Given the description of an element on the screen output the (x, y) to click on. 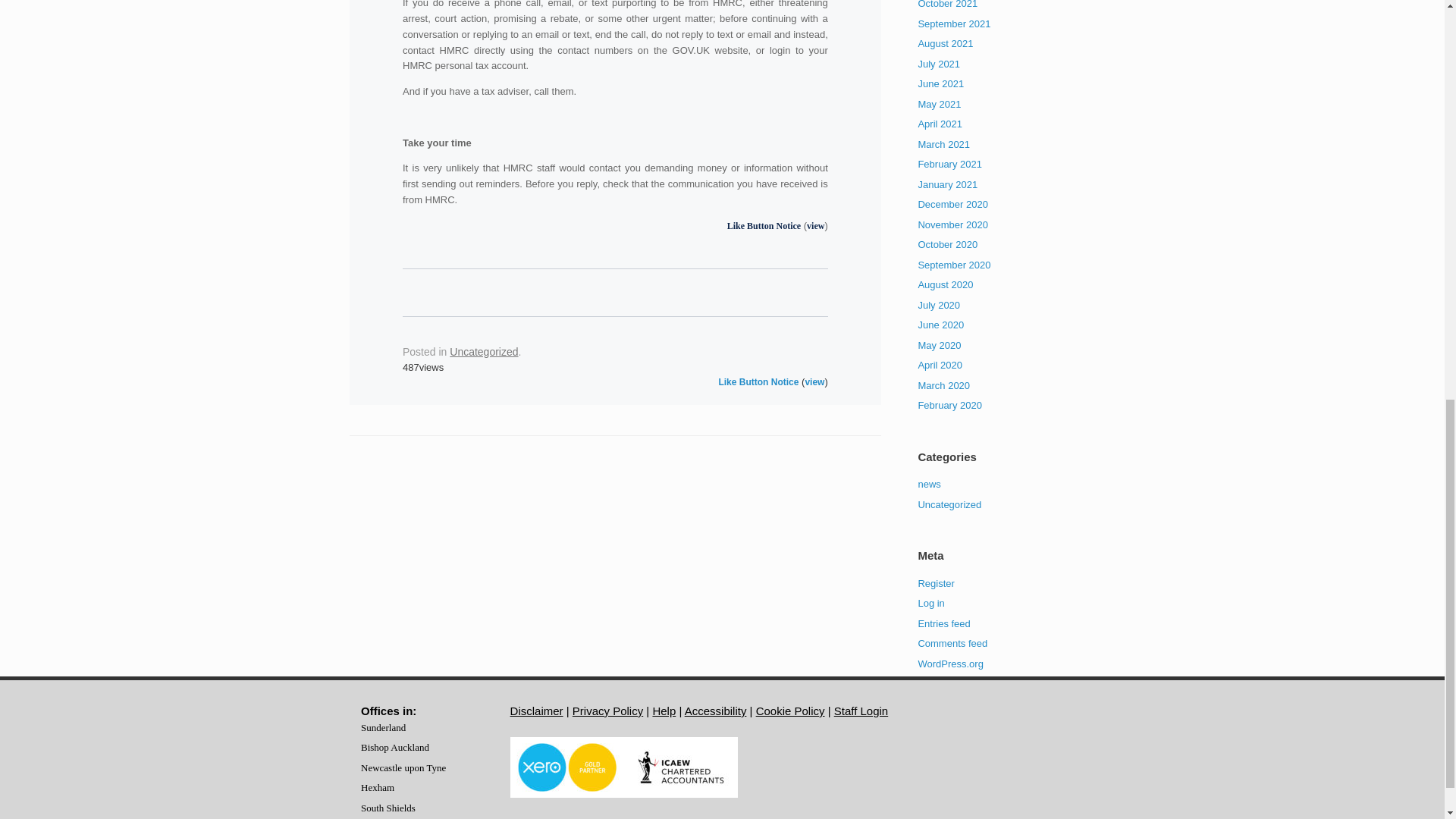
Click to view notice (814, 381)
Like Button Notice (763, 225)
Click to view notice (815, 225)
view (815, 225)
